Given the description of an element on the screen output the (x, y) to click on. 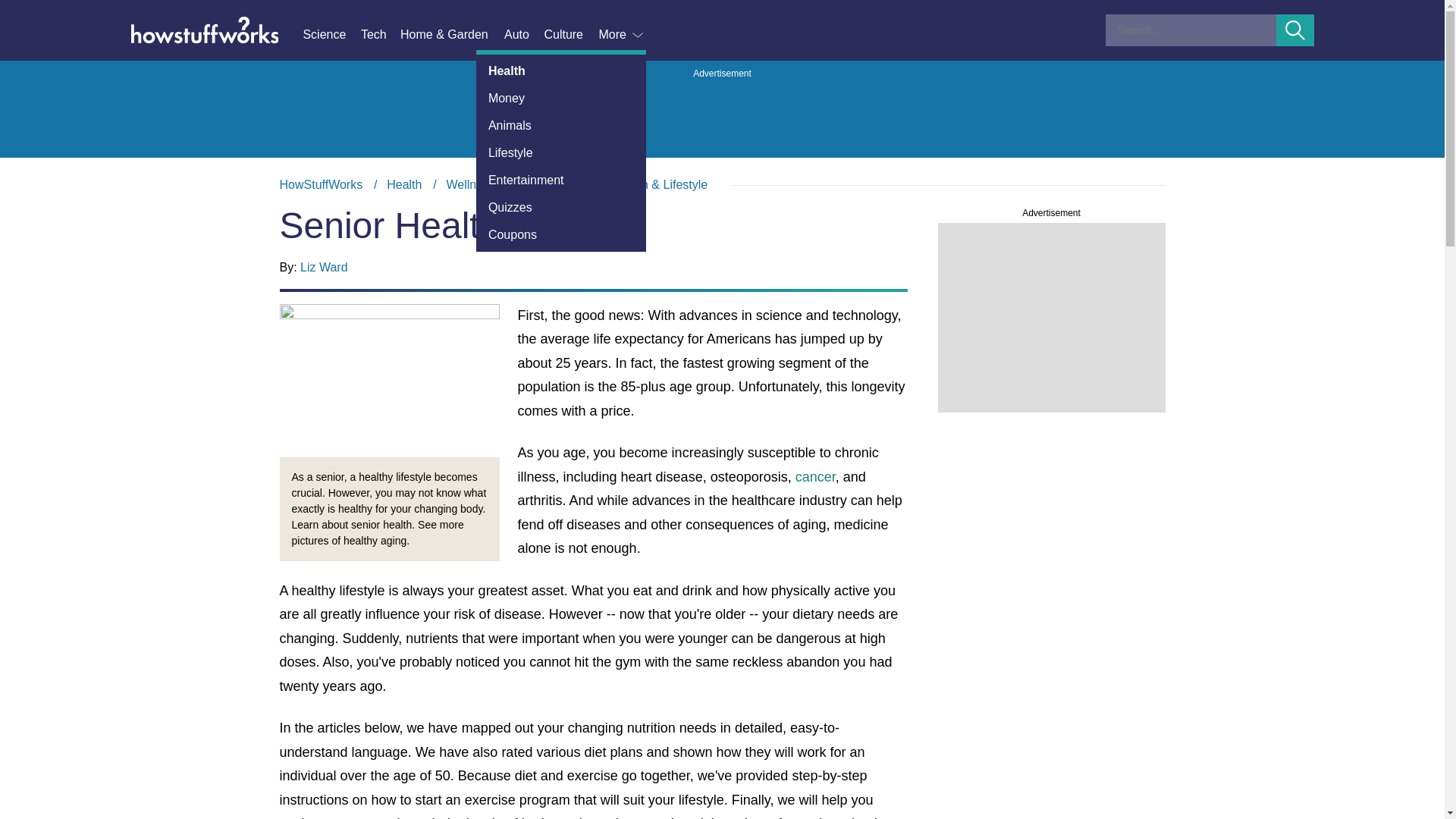
More (621, 34)
Entertainment (561, 180)
Health (561, 71)
Wellness (470, 184)
Science (330, 34)
Coupons (561, 234)
Animals (561, 125)
Tech (380, 34)
Auto (523, 34)
HowStuffWorks (320, 184)
Submit Search (1295, 29)
Culture (570, 34)
Quizzes (561, 207)
Lifestyle (561, 153)
Money (561, 98)
